Given the description of an element on the screen output the (x, y) to click on. 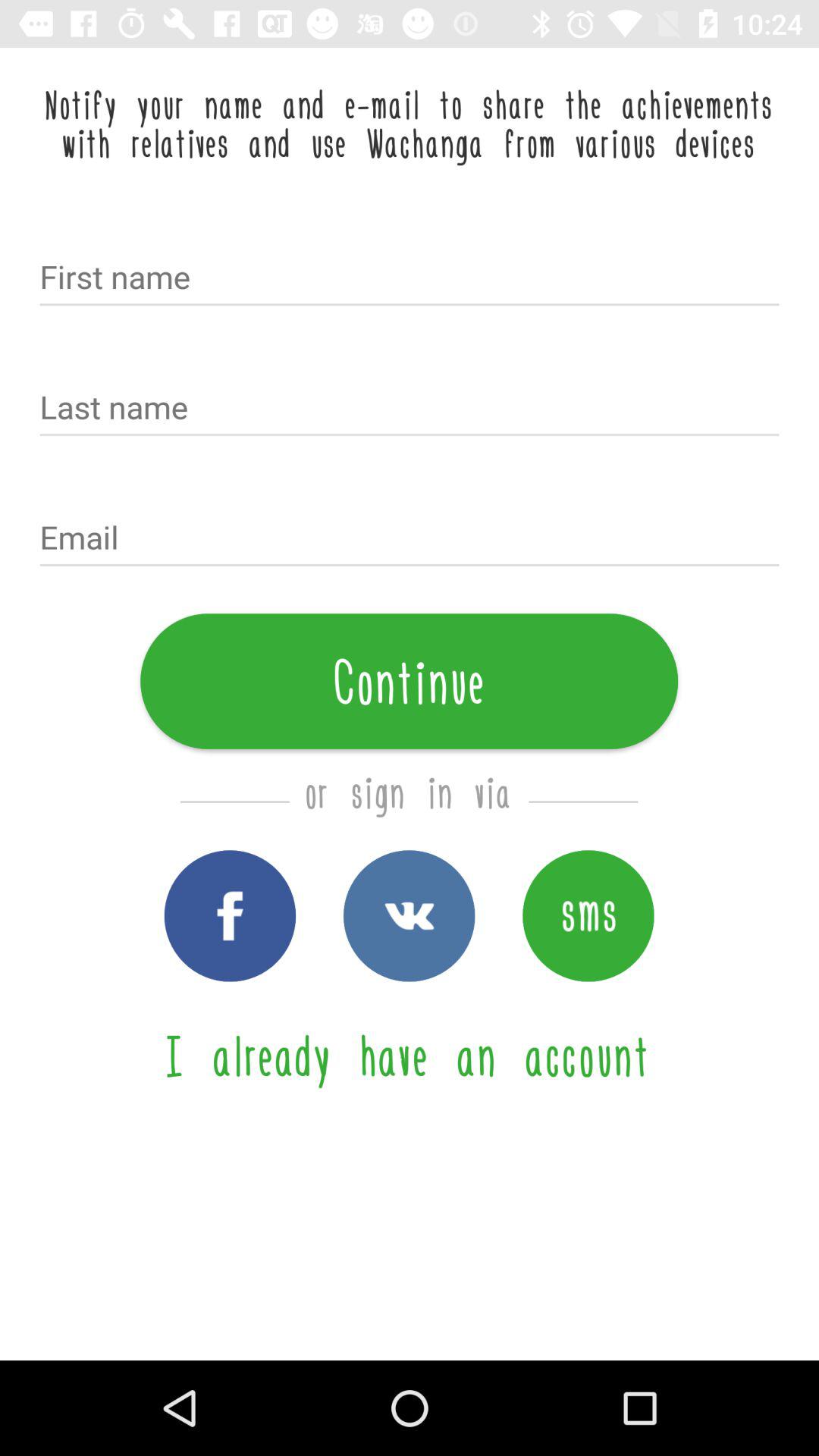
turn on the icon above continue item (409, 539)
